Given the description of an element on the screen output the (x, y) to click on. 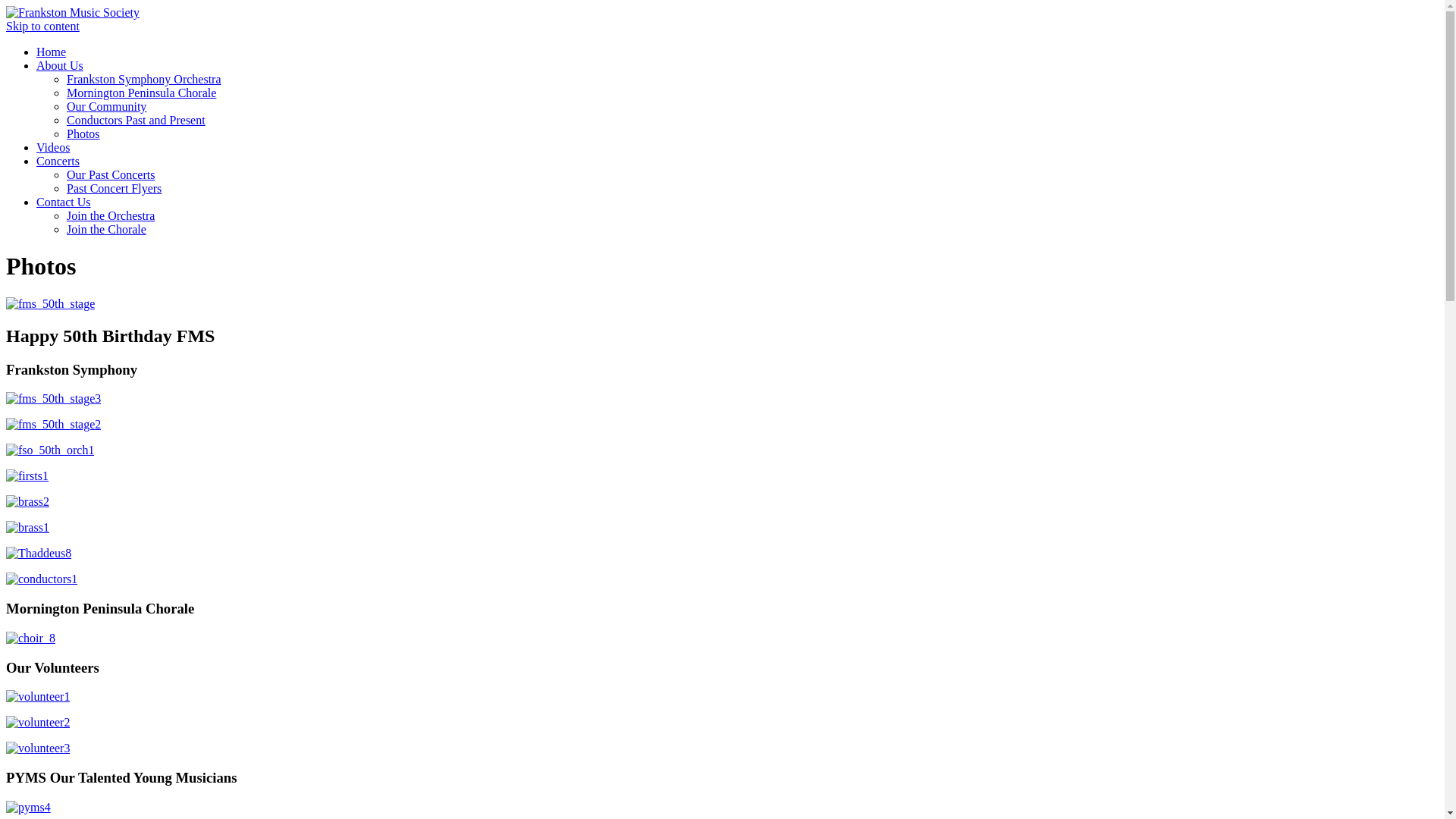
Concerts Element type: text (57, 160)
Frankston Music Society Element type: hover (72, 12)
Mornington Peninsula Chorale Element type: text (141, 92)
Our Community Element type: text (106, 106)
About Us Element type: text (59, 65)
Conductors Past and Present Element type: text (135, 119)
Our Past Concerts Element type: text (110, 174)
Contact Us Element type: text (63, 201)
Join the Chorale Element type: text (106, 228)
Past Concert Flyers Element type: text (113, 188)
Join the Orchestra Element type: text (110, 215)
Frankston Symphony Orchestra Element type: text (143, 78)
Home Element type: text (50, 51)
Photos Element type: text (83, 133)
Skip to content Element type: text (42, 25)
Videos Element type: text (52, 147)
